Given the description of an element on the screen output the (x, y) to click on. 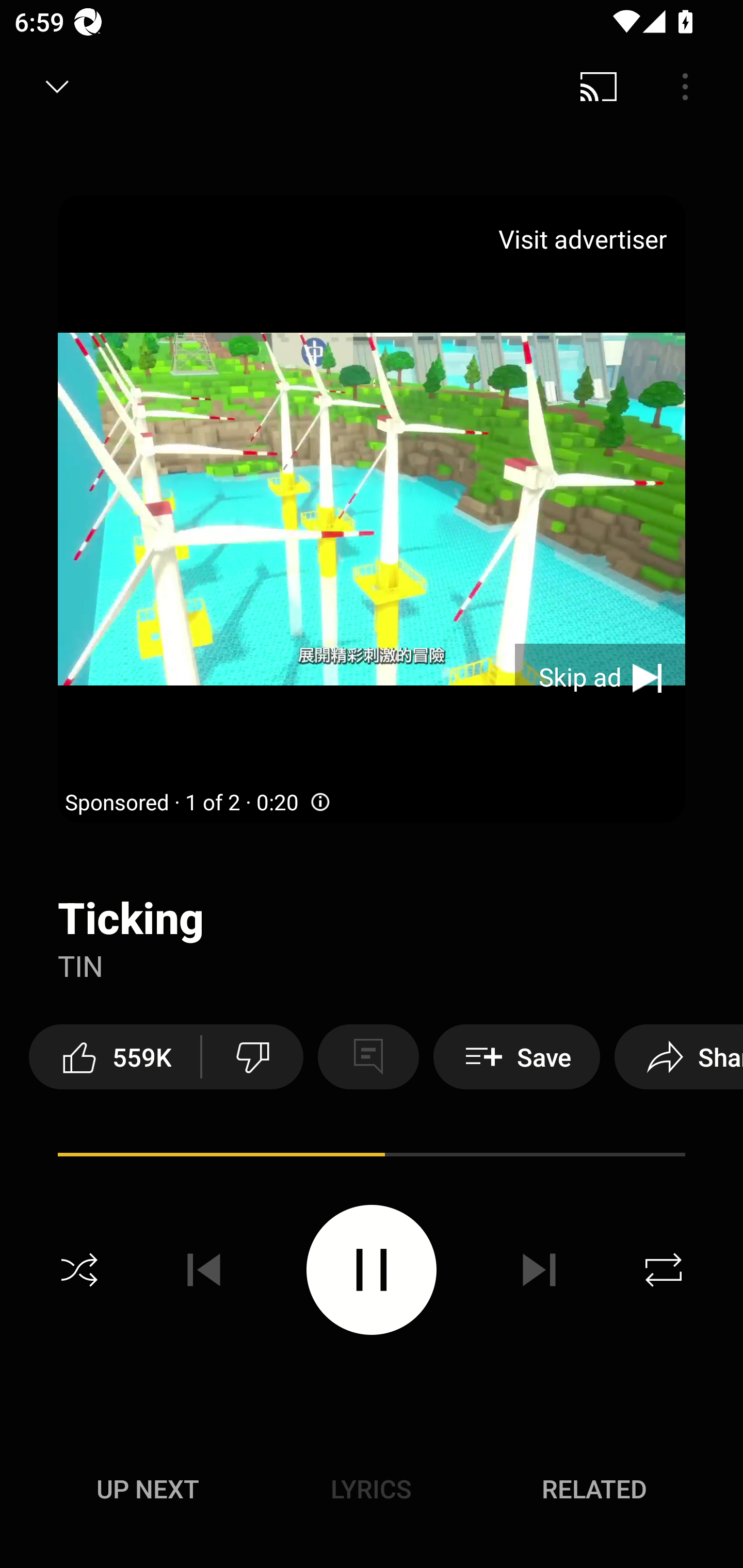
Minimize (57, 86)
Cast. Disconnected (598, 86)
Menu (684, 86)
Visit advertiser (586, 239)
Dislike (252, 1056)
Comments disabled. (368, 1056)
Save Save to playlist (516, 1056)
Share (678, 1056)
Pause video (371, 1269)
Shuffle off (79, 1269)
Previous track disabled (203, 1269)
Next track disabled (538, 1269)
Repeat off (663, 1269)
Up next UP NEXT Lyrics LYRICS Related RELATED (371, 1491)
Lyrics LYRICS (370, 1488)
Related RELATED (594, 1488)
